Given the description of an element on the screen output the (x, y) to click on. 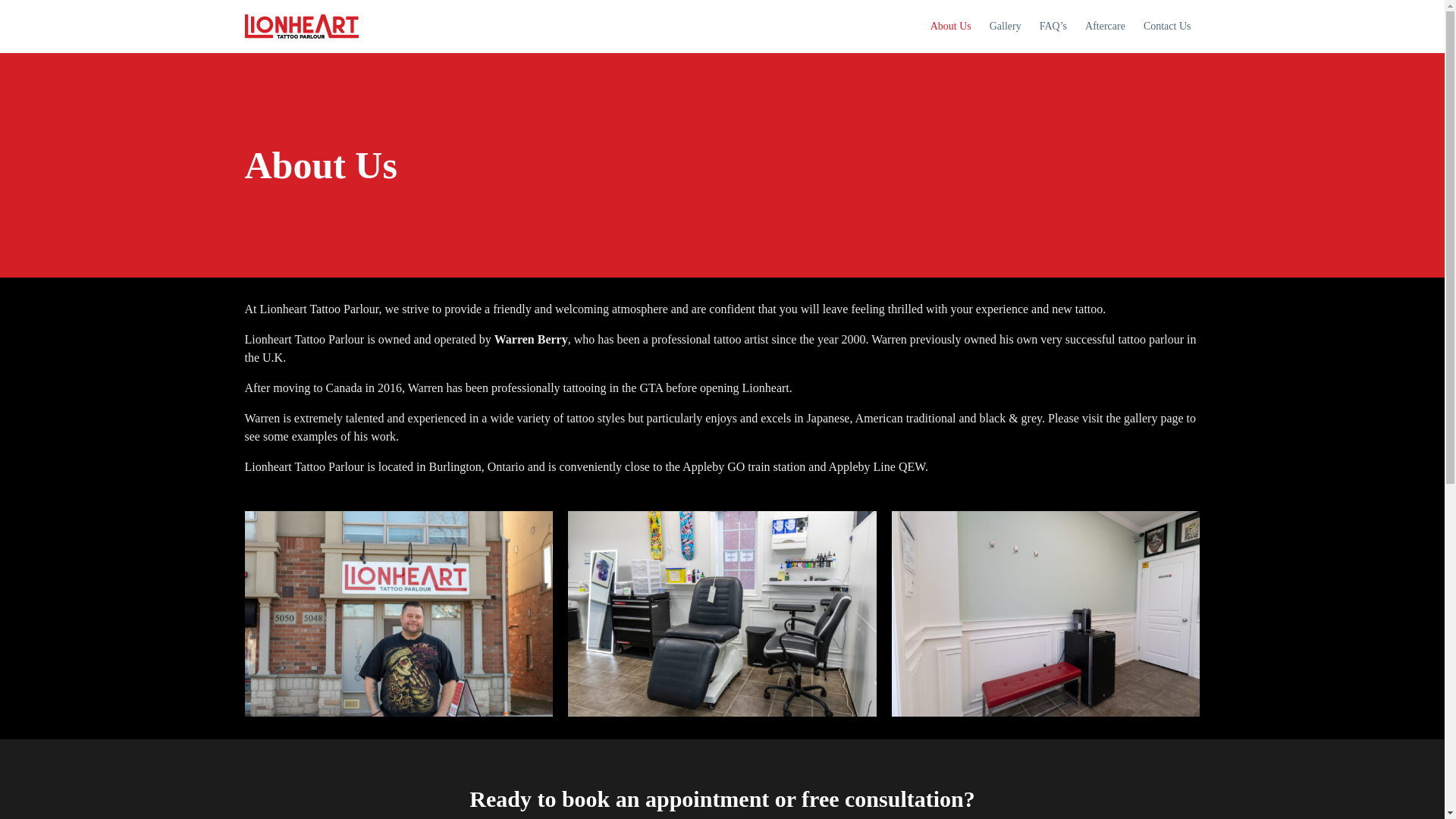
Warren Berry (398, 613)
Gallery (1004, 26)
Waiting Room (1045, 613)
About Us (950, 26)
Aftercare (1104, 26)
Tattoo Area (721, 613)
Lionheart Tattoo Parlour (301, 26)
Contact Us (1166, 26)
